Given the description of an element on the screen output the (x, y) to click on. 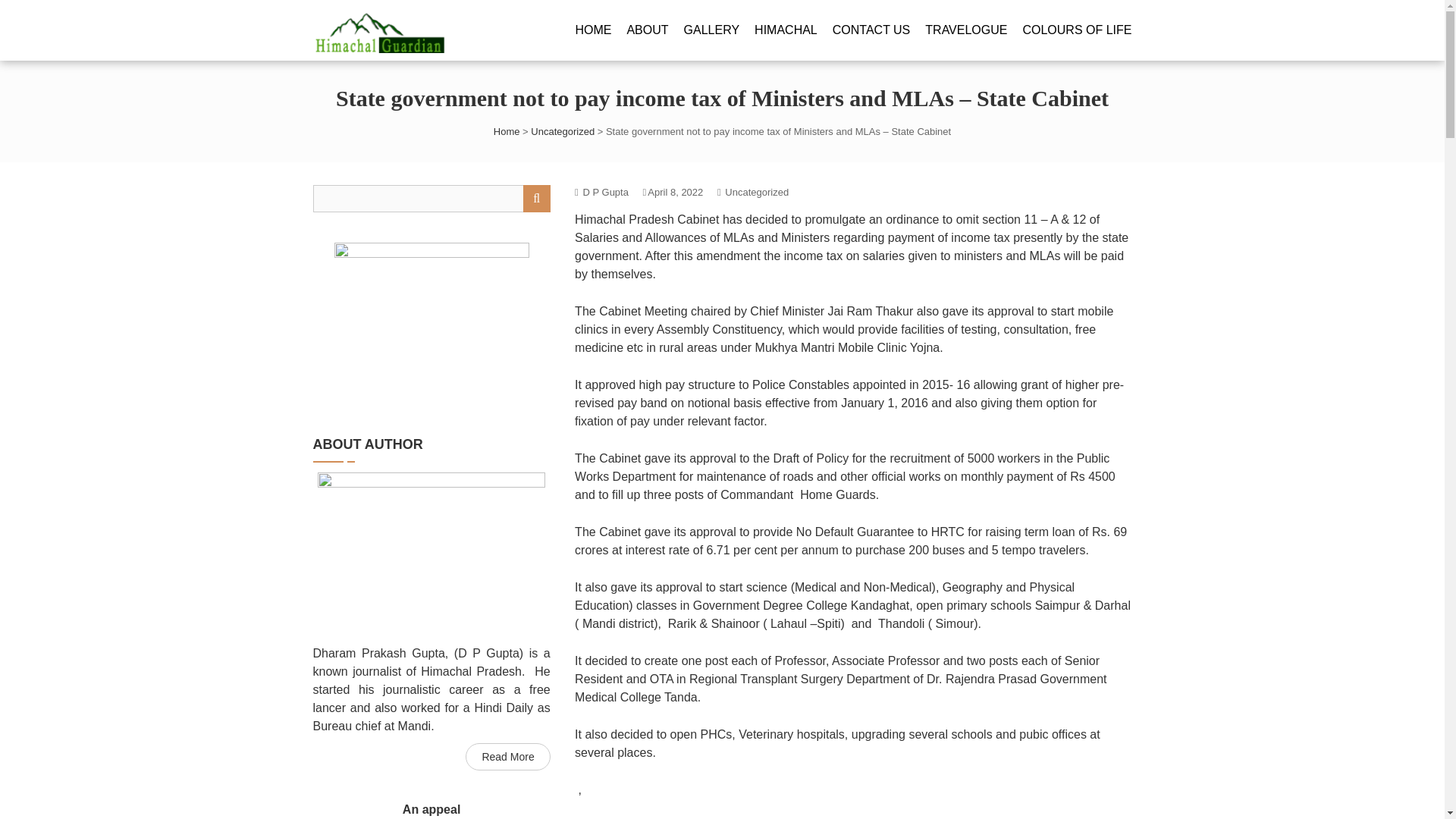
HIMACHAL (785, 30)
CONTACT US (871, 30)
Uncategorized (562, 131)
Read More (507, 756)
Home (506, 131)
COLOURS OF LIFE (1076, 30)
ABOUT (647, 30)
Uncategorized (757, 192)
HOME (593, 30)
GALLERY (711, 30)
TRAVELOGUE (965, 30)
